Given the description of an element on the screen output the (x, y) to click on. 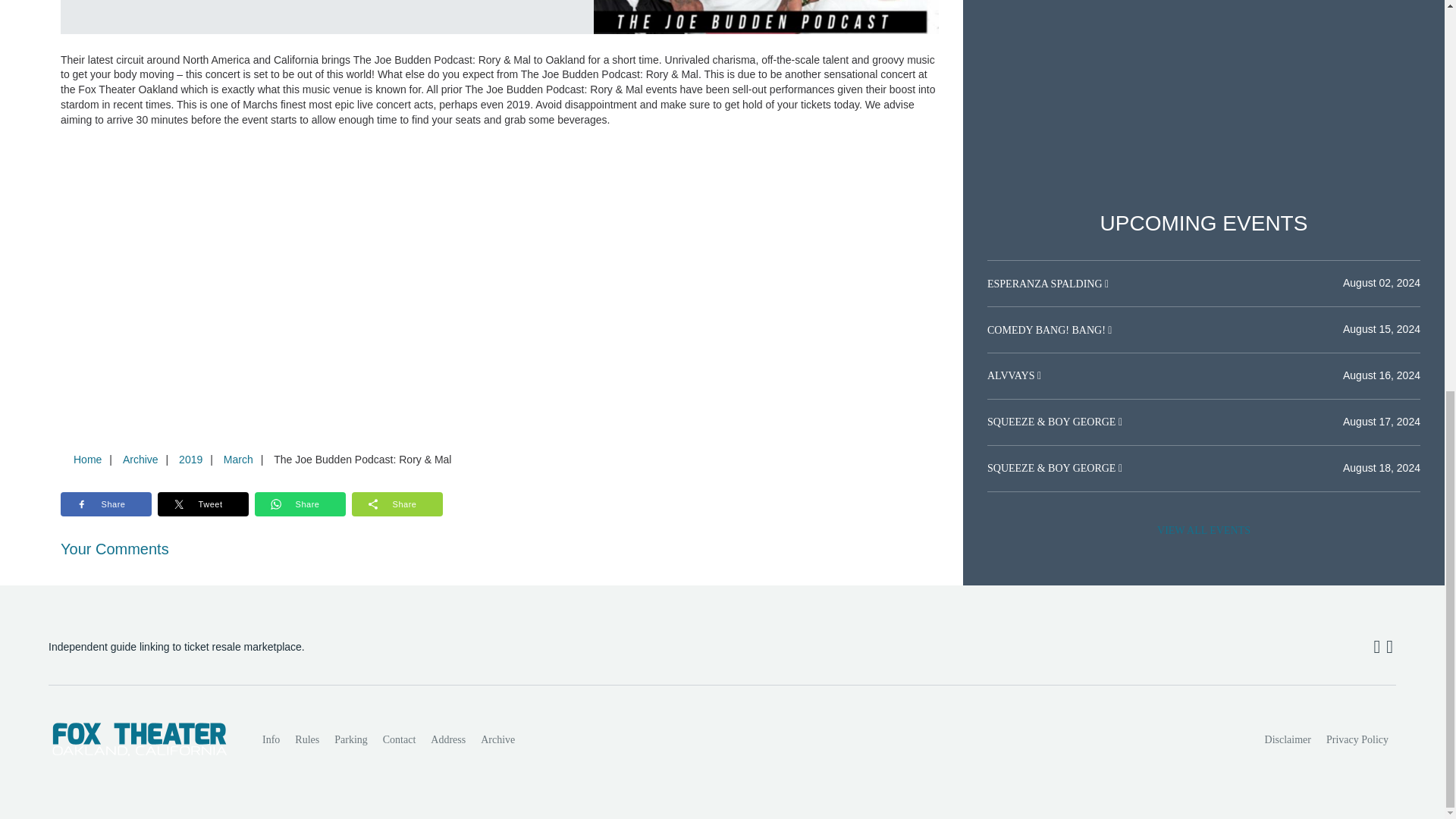
Privacy Policy (1357, 739)
ALVVAYS (1011, 375)
Disclaimer (1288, 739)
Home (87, 459)
Address (448, 739)
Parking (350, 739)
Archive (497, 739)
ESPERANZA SPALDING (1046, 283)
VIEW ALL EVENTS (1203, 530)
Info (270, 739)
Rules (306, 739)
2019 (190, 459)
Contact (399, 739)
March (237, 459)
Advertisement (1204, 81)
